Given the description of an element on the screen output the (x, y) to click on. 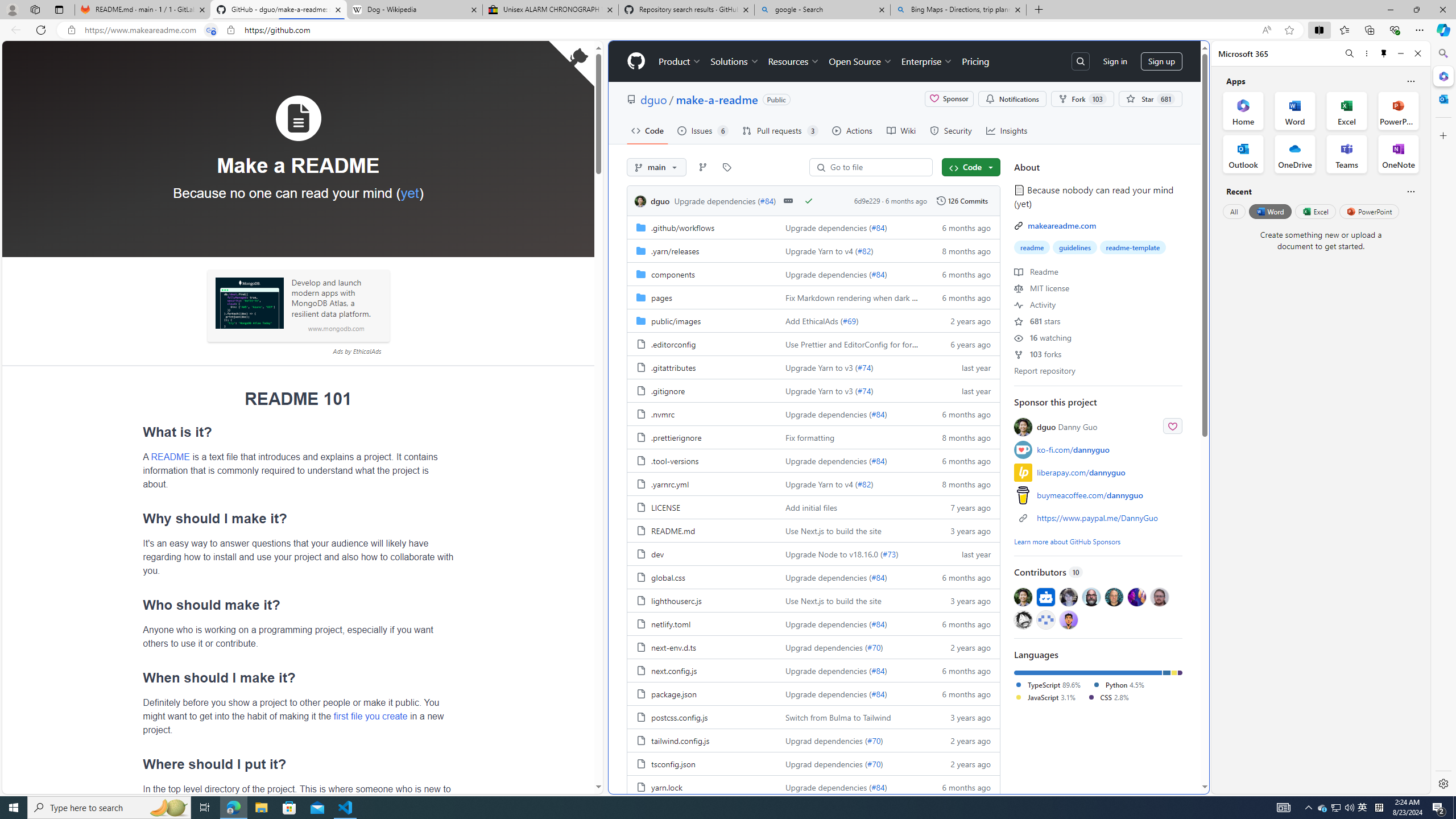
Security (950, 130)
Go to Branches page (702, 167)
.tool-versions, (File) (701, 459)
lighthouserc.js, (File) (675, 600)
CSS 2.8% (1107, 696)
@paul-hammant (1113, 596)
pages, (Directory) (701, 296)
README.md, (File) (701, 530)
https://www.paypal.me/DannyGuo (1097, 517)
.github/workflows, (Directory) (682, 227)
Open GitHub project (571, 63)
Report repository (1044, 369)
dguo (642, 200)
